Given the description of an element on the screen output the (x, y) to click on. 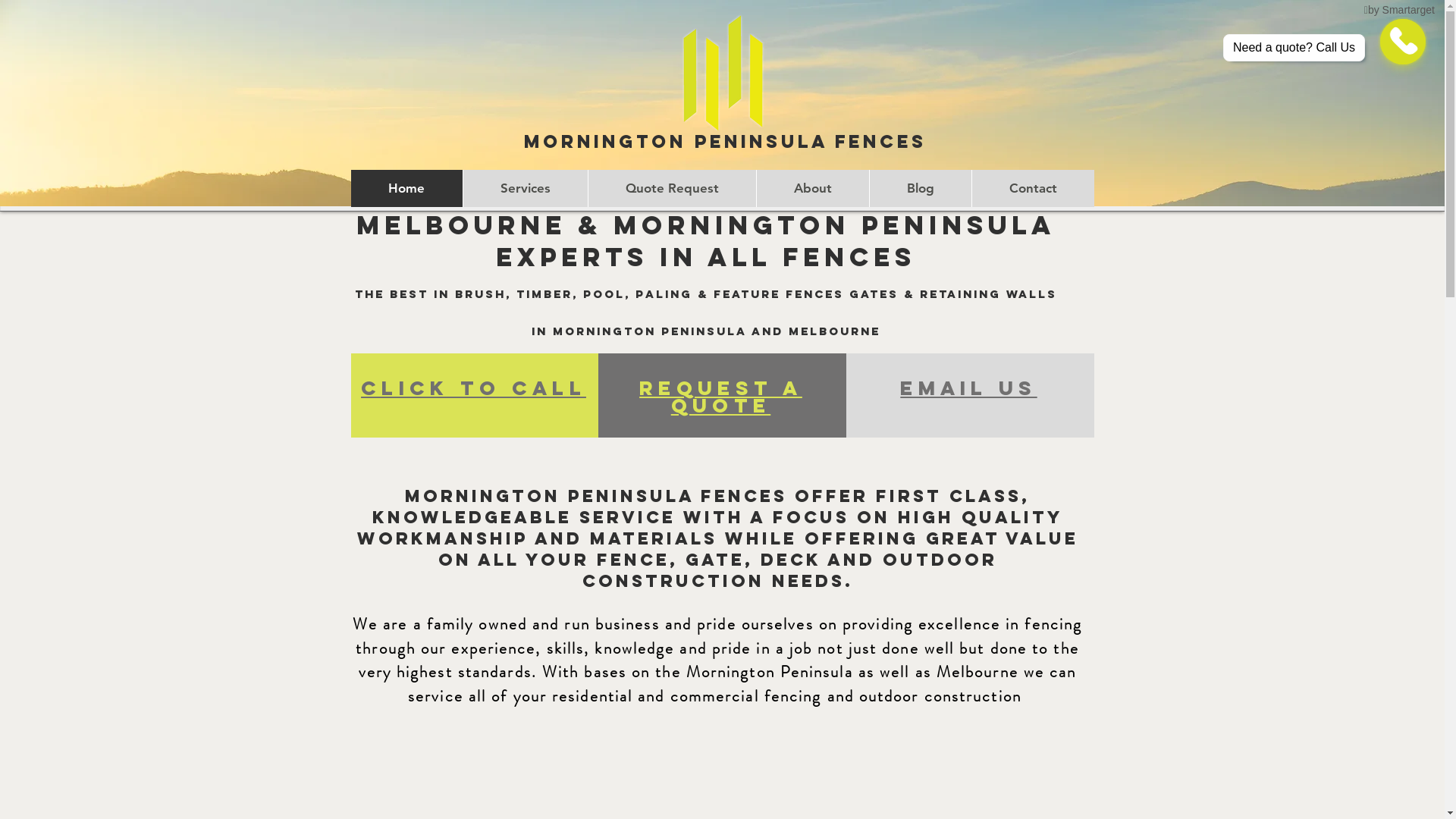
Home Element type: text (405, 188)
About Element type: text (811, 188)
email us Element type: text (968, 387)
Contact Element type: text (1031, 188)
Click to Call Element type: text (473, 387)
Services Element type: text (524, 188)
request a quote Element type: text (720, 396)
Blog Element type: text (920, 188)
Quote Request Element type: text (670, 188)
